Given the description of an element on the screen output the (x, y) to click on. 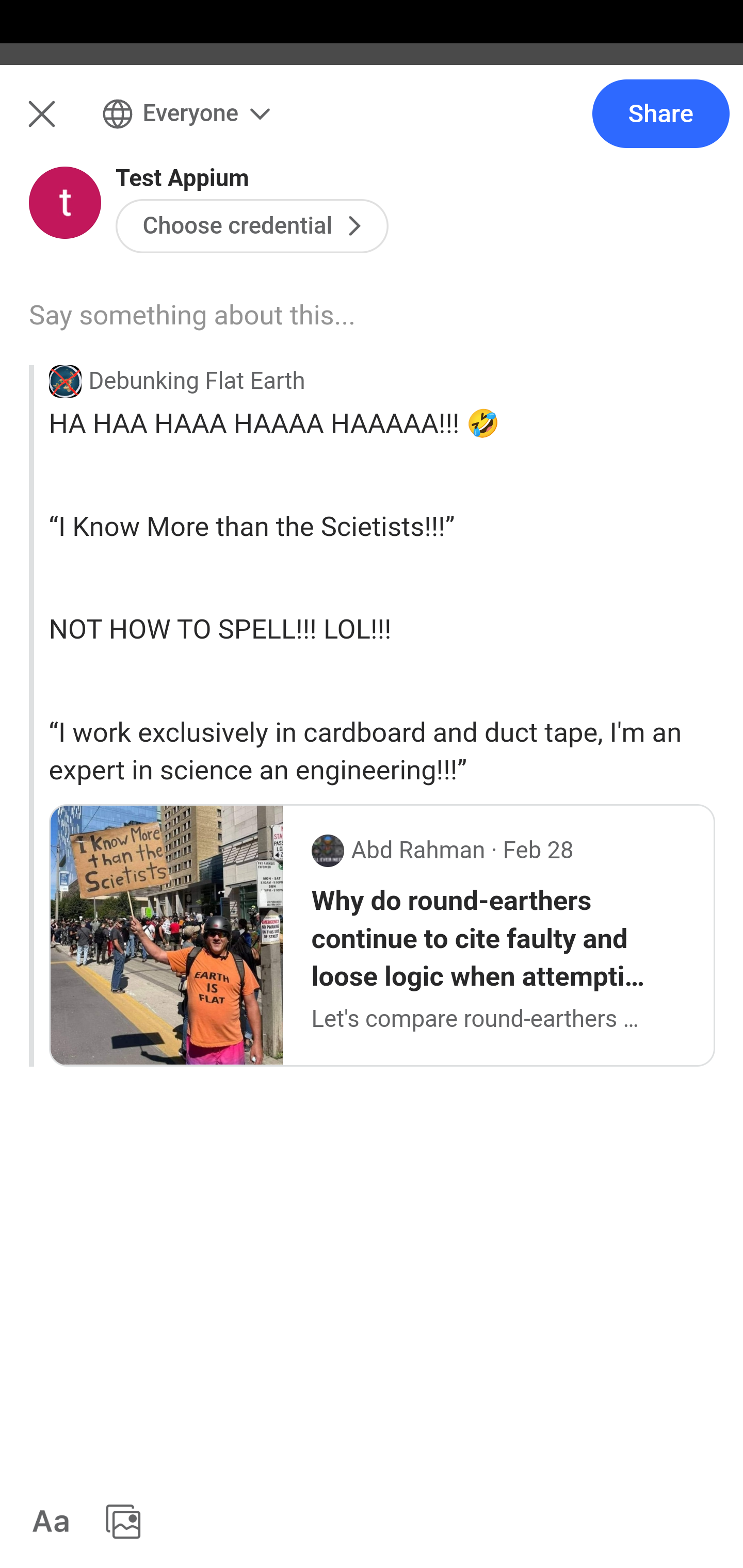
Me Home Search Add (371, 125)
Me (64, 125)
